Given the description of an element on the screen output the (x, y) to click on. 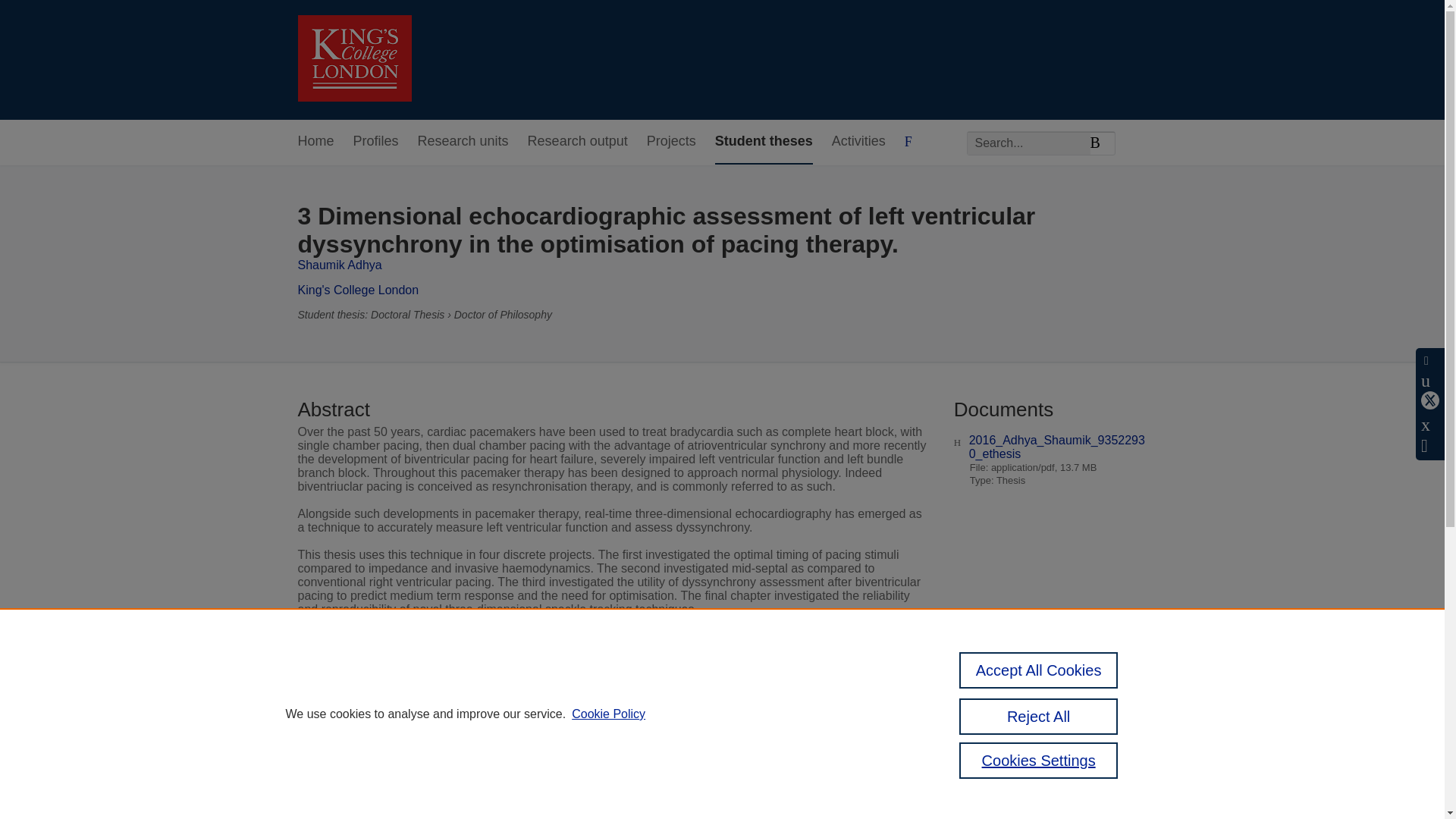
Cookies Settings (1038, 760)
King's College London (358, 289)
Research units (462, 141)
Projects (670, 141)
Reject All (1038, 716)
Accept All Cookies (1038, 669)
Activities (858, 141)
King's College London Home (353, 59)
Shaumik Adhya (339, 264)
